Given the description of an element on the screen output the (x, y) to click on. 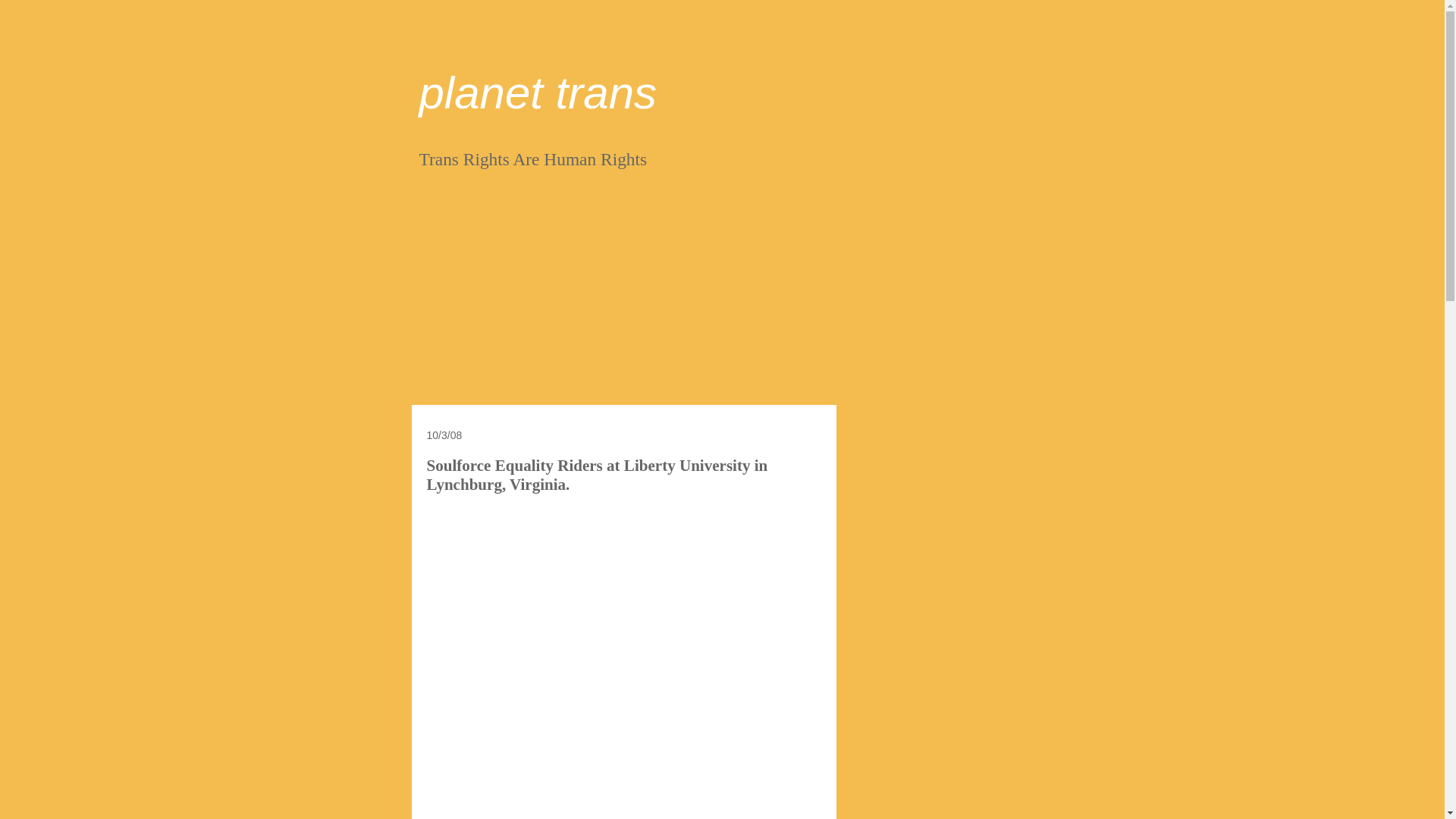
planet trans (537, 92)
